Given the description of an element on the screen output the (x, y) to click on. 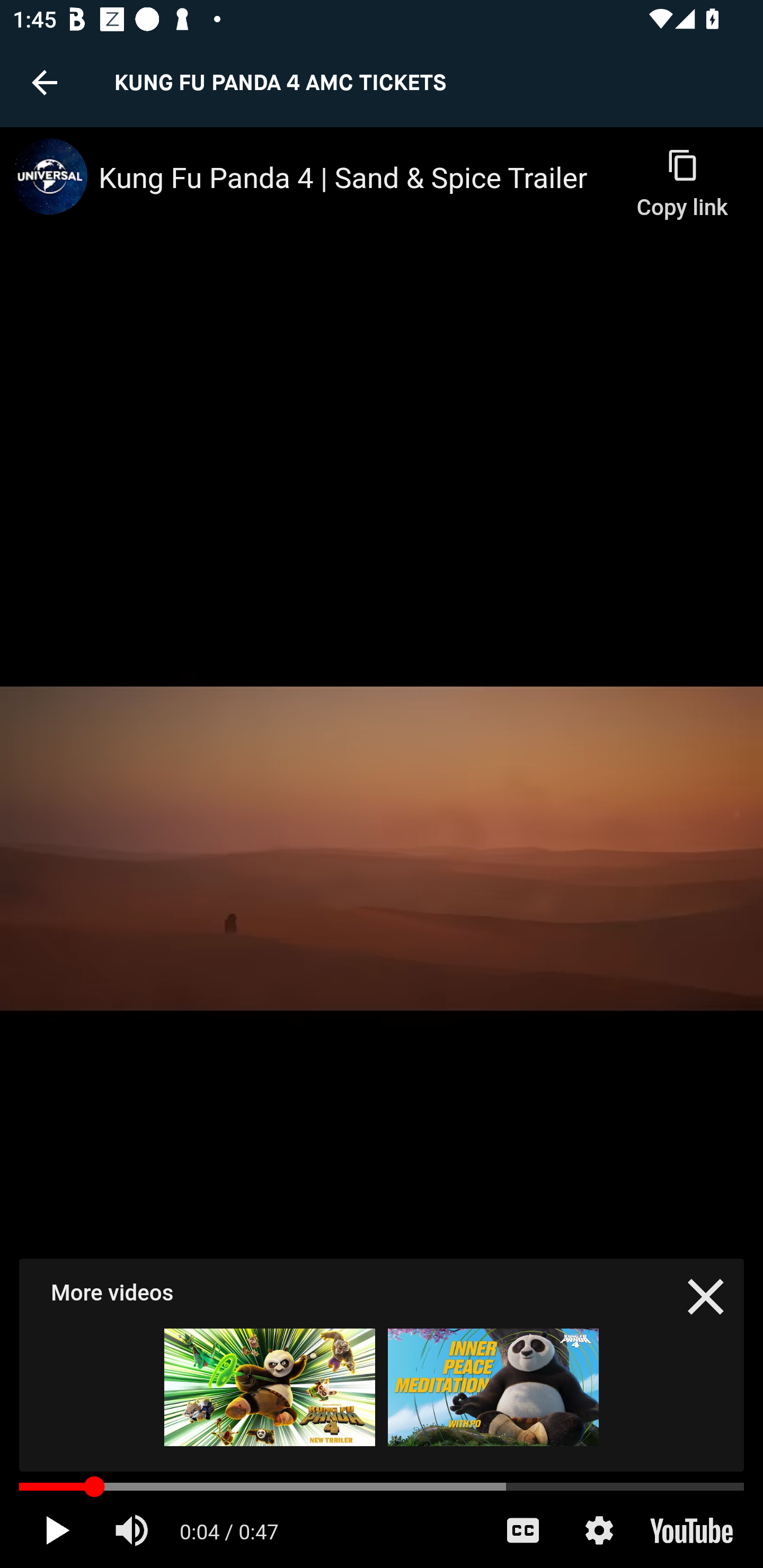
Navigate up (44, 82)
Copy link (681, 175)
Photo image of Universal Pictures (49, 175)
Kung Fu Panda 4 | Sand & Spice Trailer (359, 179)
Hide more videos (705, 1296)
Play (57, 1530)
Mute (133, 1530)
0:04 / 0:47 (229, 1530)
Subtitles/closed captions (522, 1530)
Settings (598, 1530)
Watch on YouTube (690, 1530)
